Given the description of an element on the screen output the (x, y) to click on. 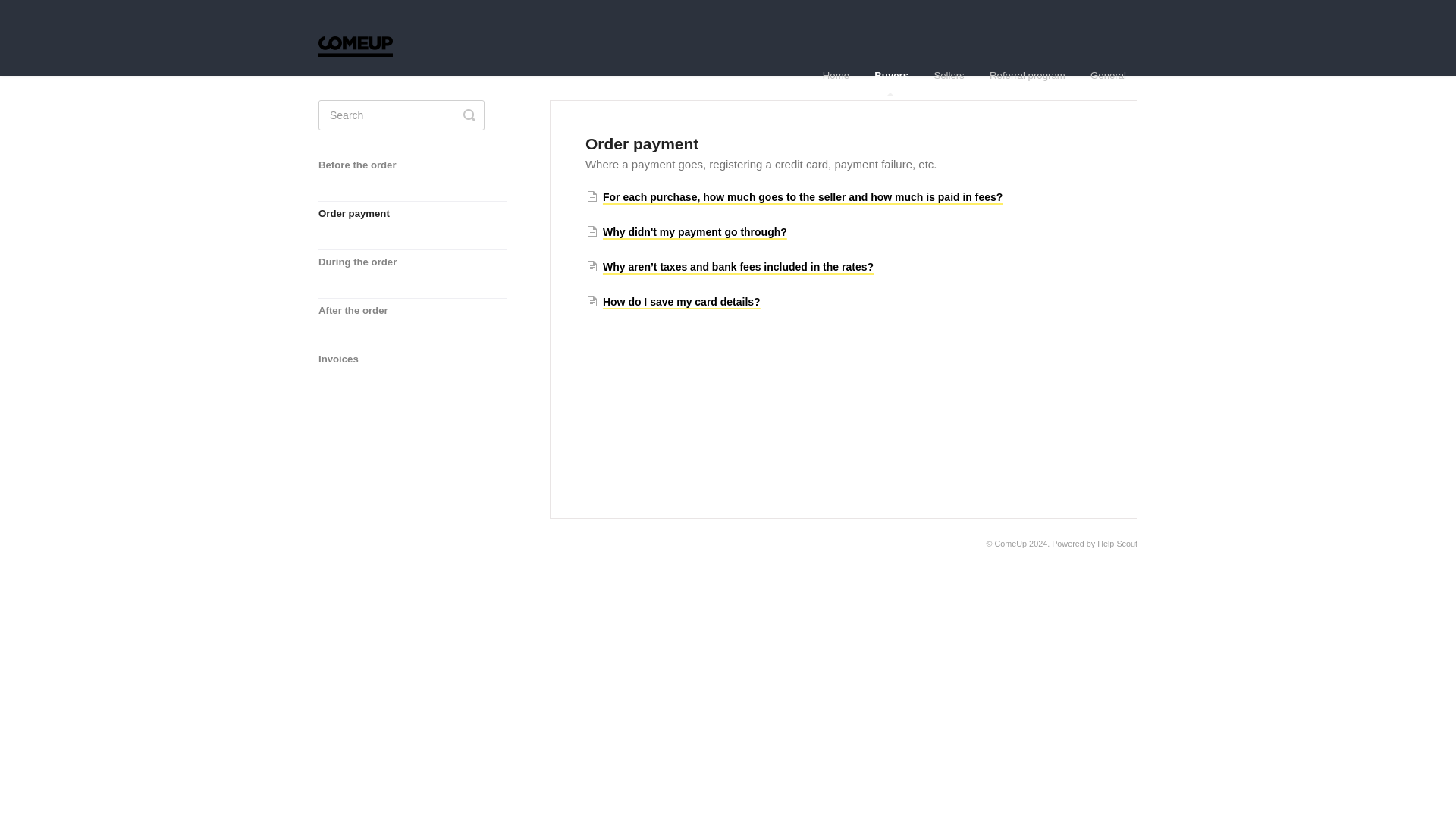
Buyers (891, 75)
Help Scout (1117, 542)
ComeUp (1010, 542)
search-query (401, 114)
After the order (358, 320)
Invoices (343, 370)
Home (835, 75)
General (1107, 75)
Order payment (359, 224)
Sellers (948, 75)
Referral program (1027, 75)
Why didn't my payment go through? (686, 231)
During the order (362, 272)
Before the order (362, 176)
